Given the description of an element on the screen output the (x, y) to click on. 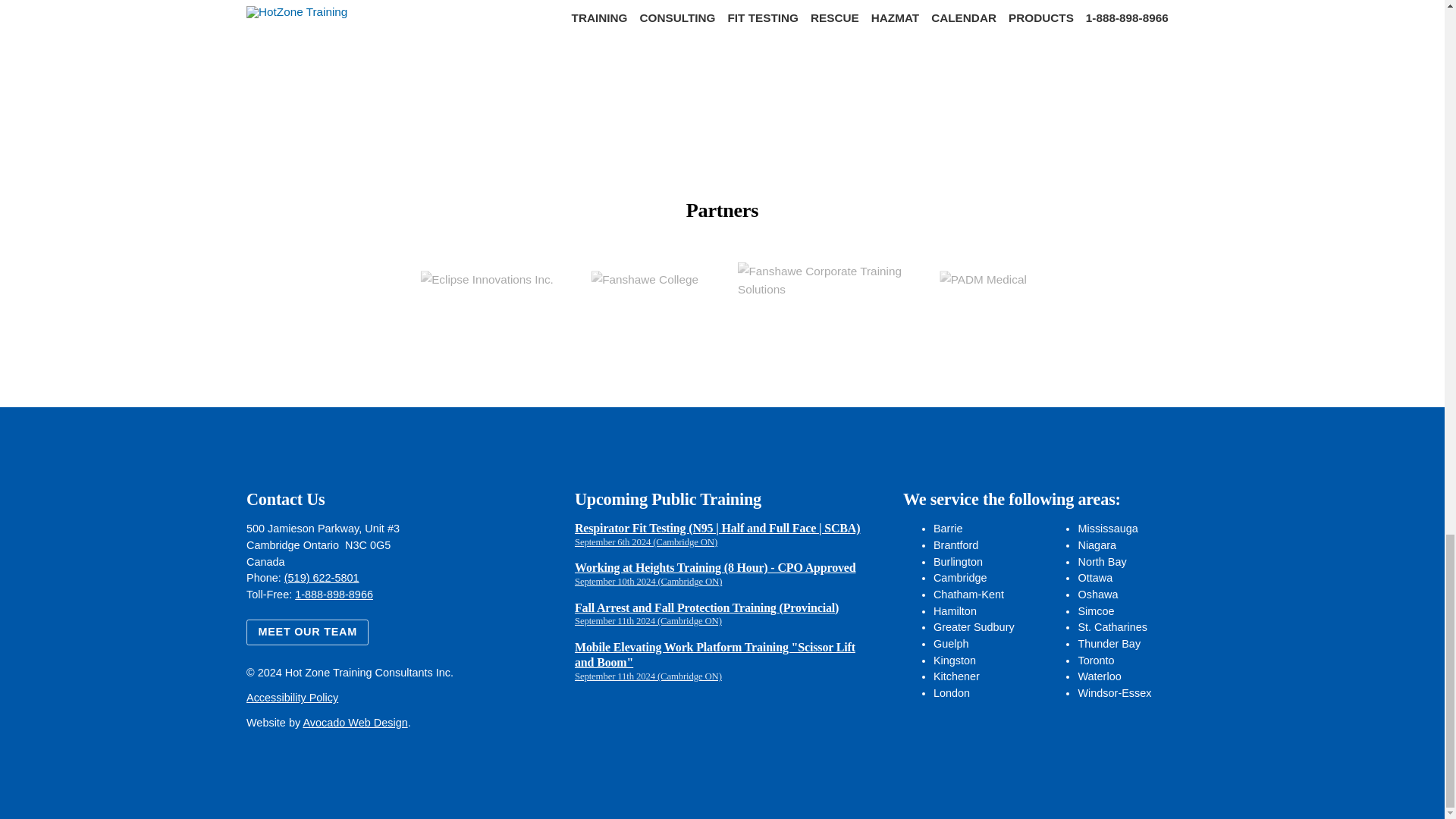
MEET OUR TEAM (307, 632)
Avocado Web Design (354, 722)
1-888-898-8966 (333, 594)
Accessibility Policy (291, 697)
